Given the description of an element on the screen output the (x, y) to click on. 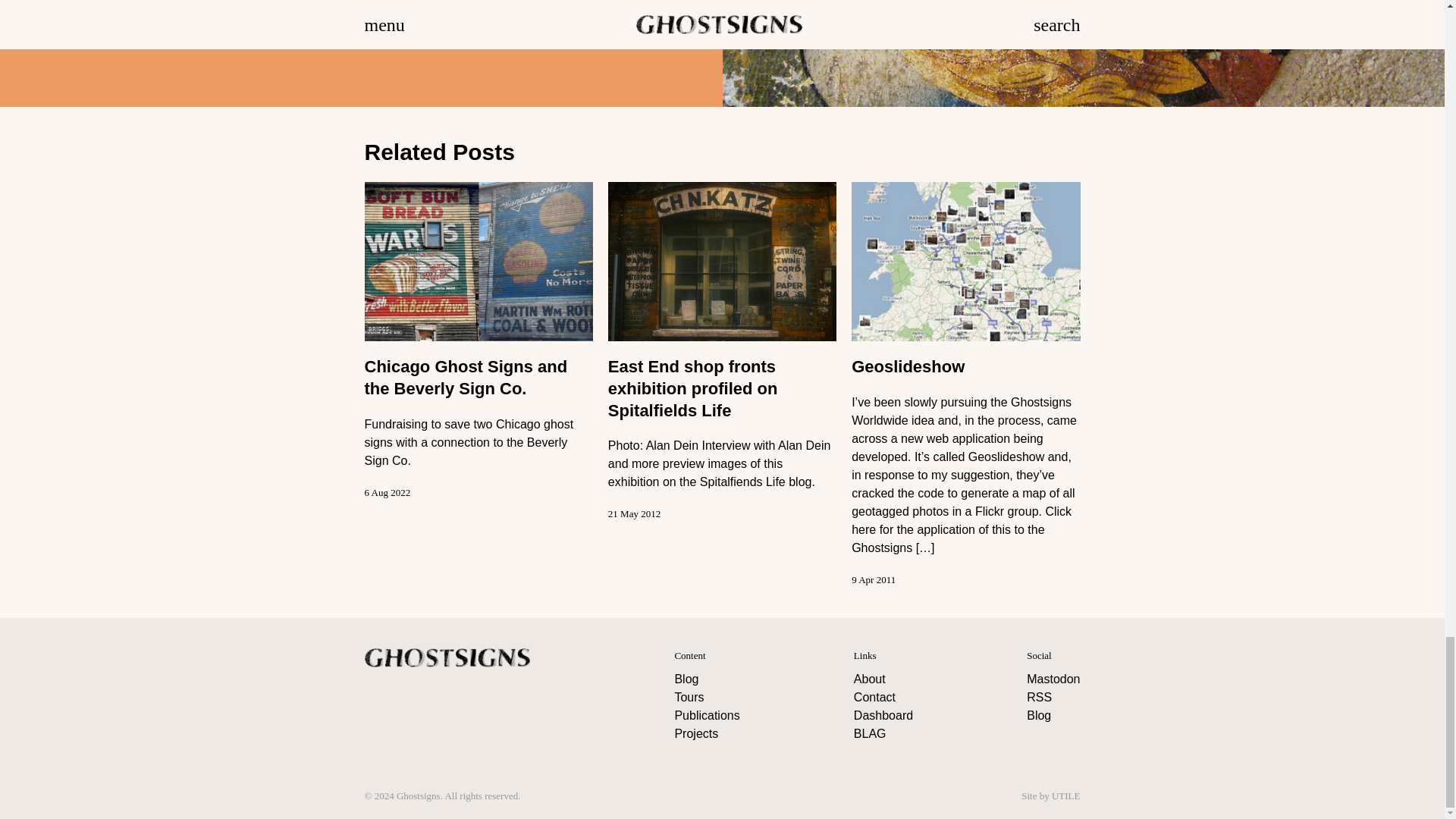
RSS feed for the Ghostsigns blog (1038, 697)
BLAG on Mastodon (1053, 678)
